Given the description of an element on the screen output the (x, y) to click on. 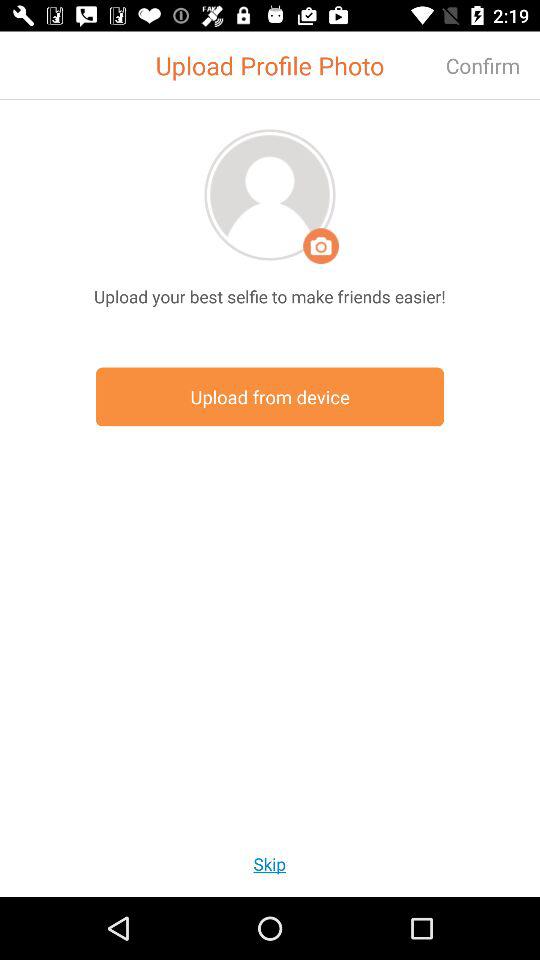
profile picture (269, 194)
